Given the description of an element on the screen output the (x, y) to click on. 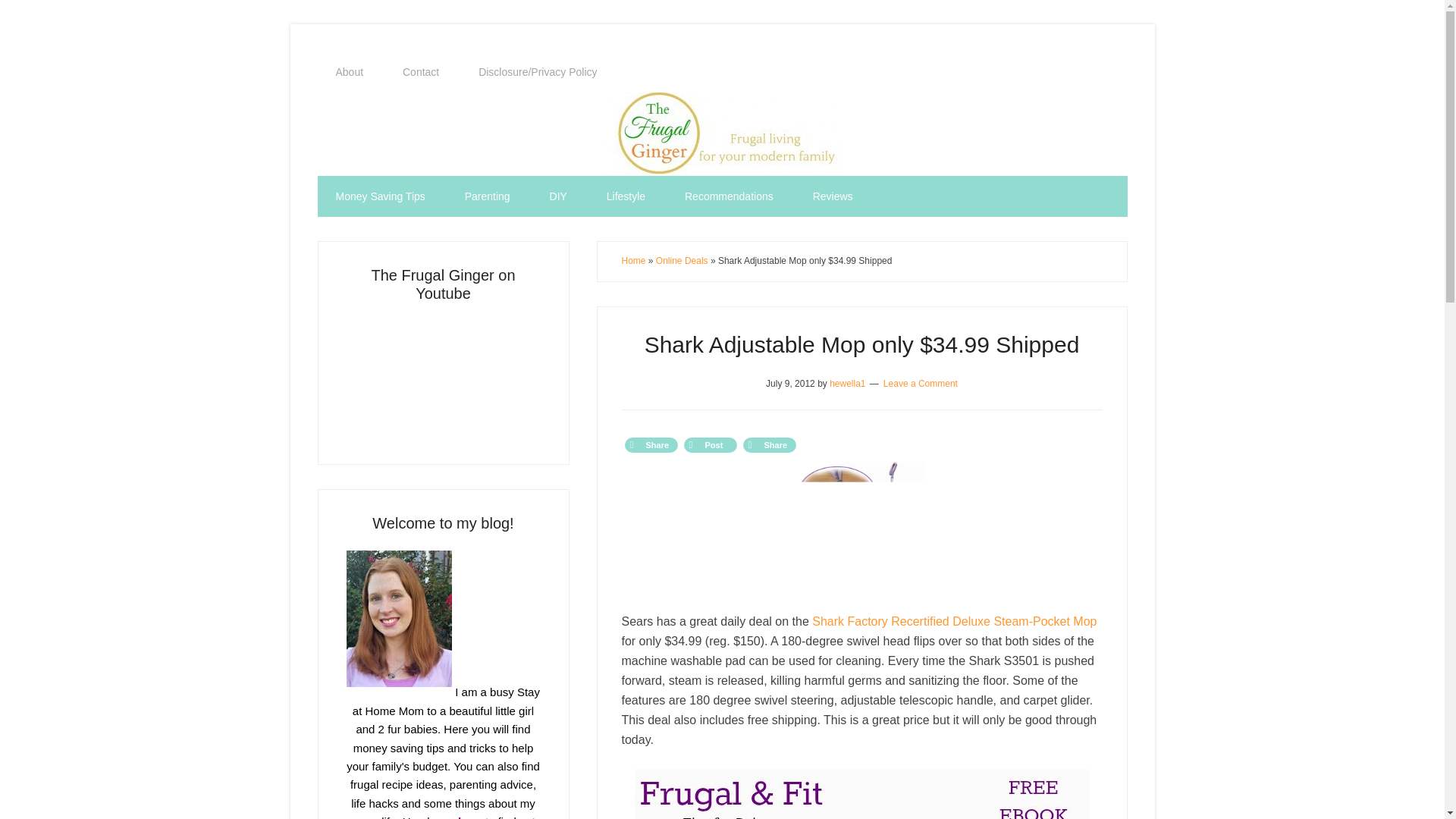
Shark Factory Recertified Deluxe Steam-Pocket Mop (954, 621)
hewella1 (846, 382)
Frugal Living (443, 377)
Recommendations (729, 196)
Facebook (651, 444)
About (349, 71)
Contact (420, 71)
Leave a Comment (920, 382)
nhj (861, 526)
Money Saving Tips (379, 196)
